Given the description of an element on the screen output the (x, y) to click on. 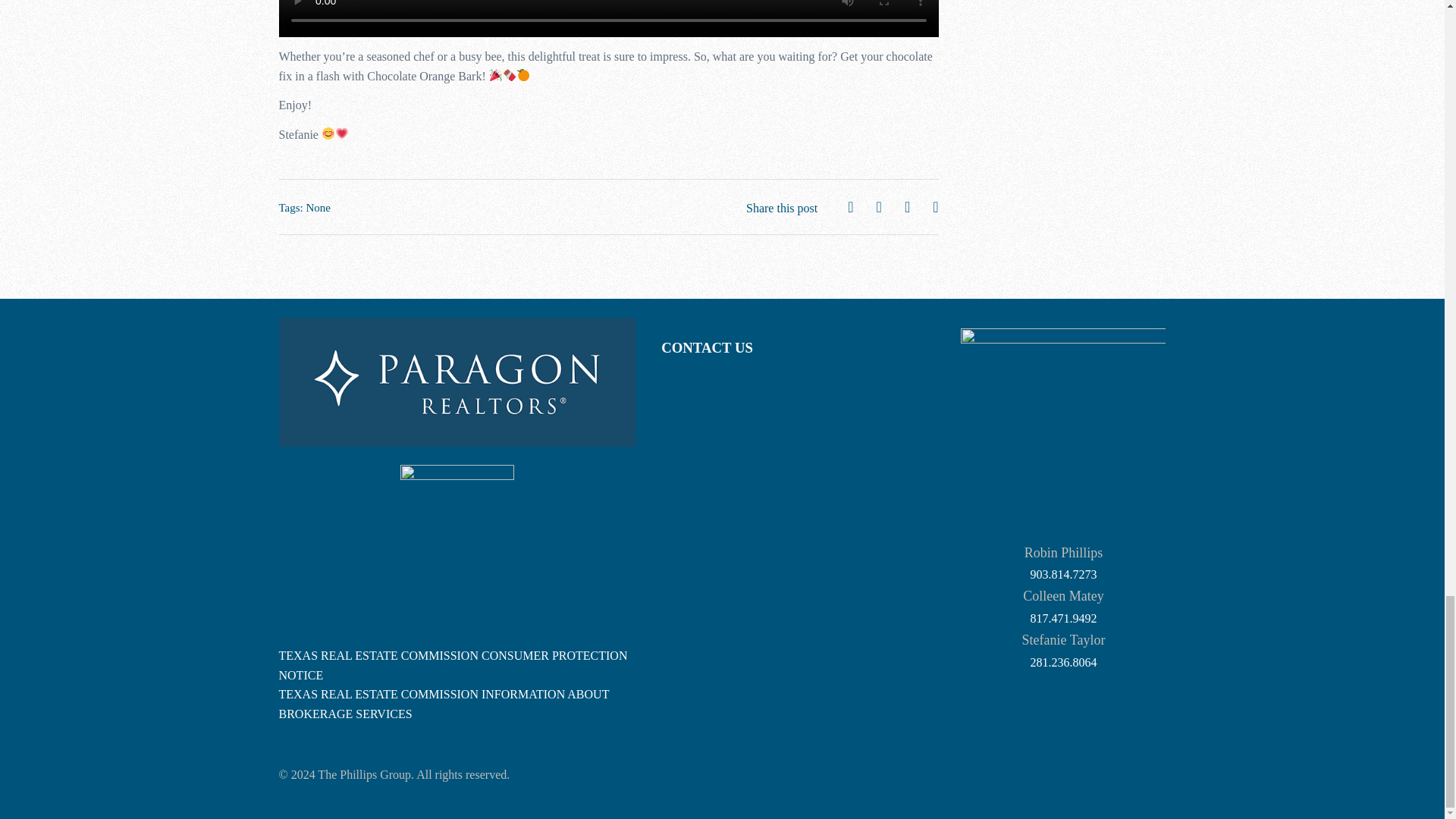
903.814.7273 (1062, 574)
817.471.9492 (1062, 617)
281.236.8064 (1062, 662)
TEXAS REAL ESTATE COMMISSION CONSUMER PROTECTION NOTICE (453, 665)
